Given the description of an element on the screen output the (x, y) to click on. 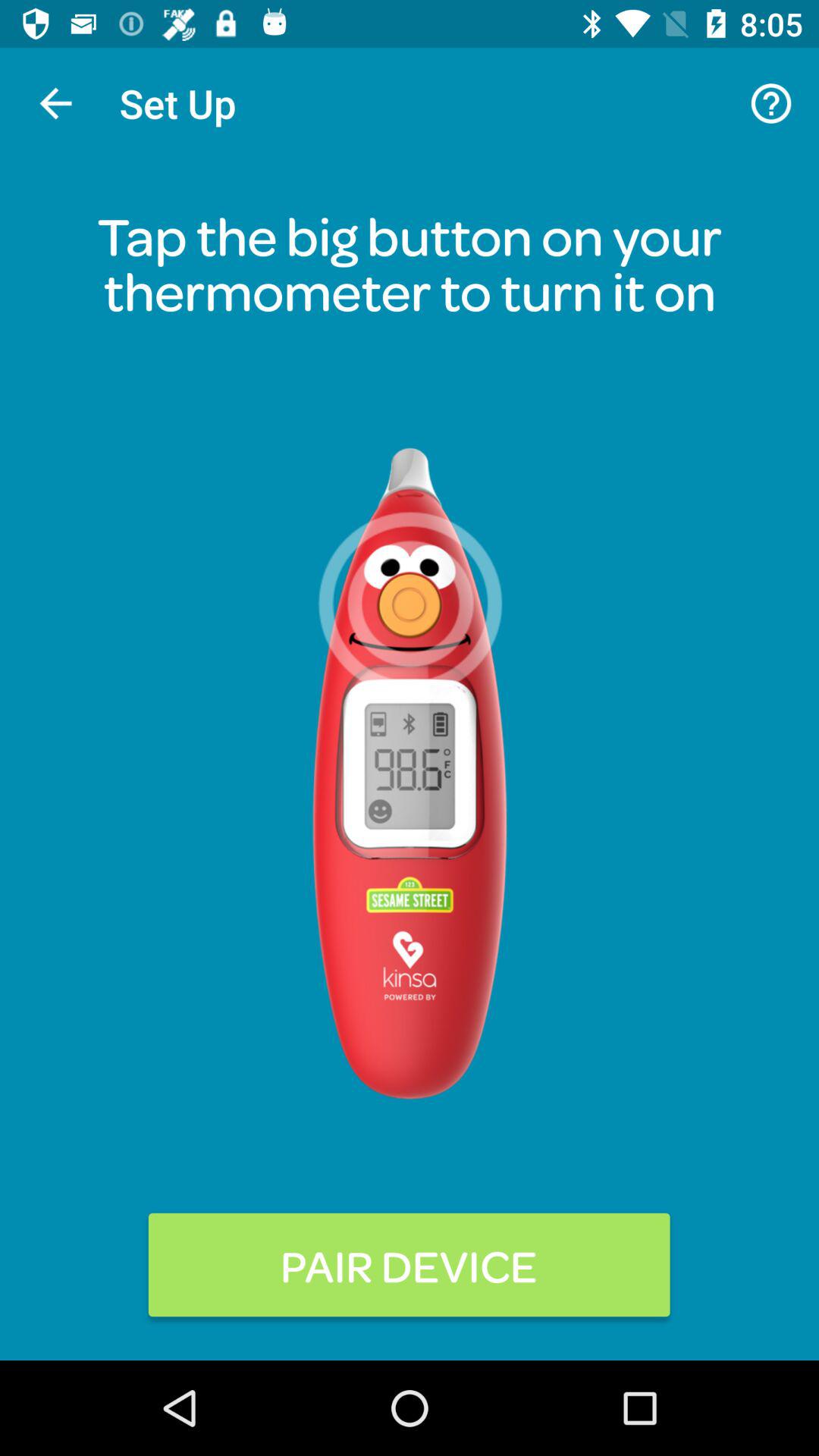
tap icon above tap the big item (55, 103)
